Given the description of an element on the screen output the (x, y) to click on. 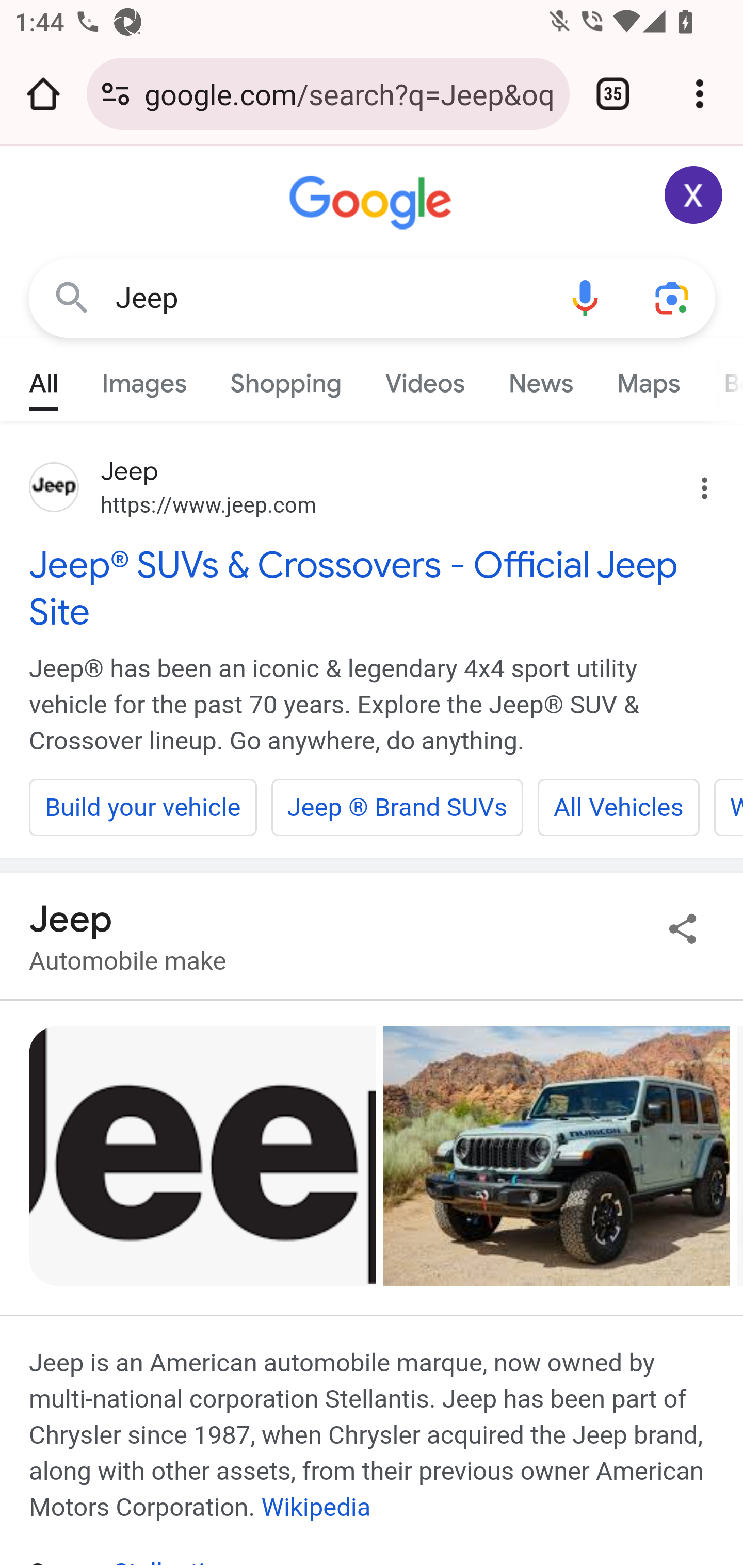
Open the home page (43, 93)
Connection is secure (115, 93)
Switch or close tabs (612, 93)
Customize and control Google Chrome (699, 93)
Google (372, 203)
Google Account: Xiaoran (zxrappiumtest@gmail.com) (694, 195)
Google Search (71, 296)
Search using your camera or photos (672, 296)
Jeep (328, 297)
Images (144, 378)
Shopping (285, 378)
Videos (424, 378)
News (540, 378)
Maps (647, 378)
Jeep® SUVs & Crossovers - Official Jeep Site (372, 587)
Build your vehicle (142, 807)
Jeep ® Brand SUVs (397, 807)
All Vehicles (618, 807)
Share (683, 928)
Wikipedia (316, 1507)
